Given the description of an element on the screen output the (x, y) to click on. 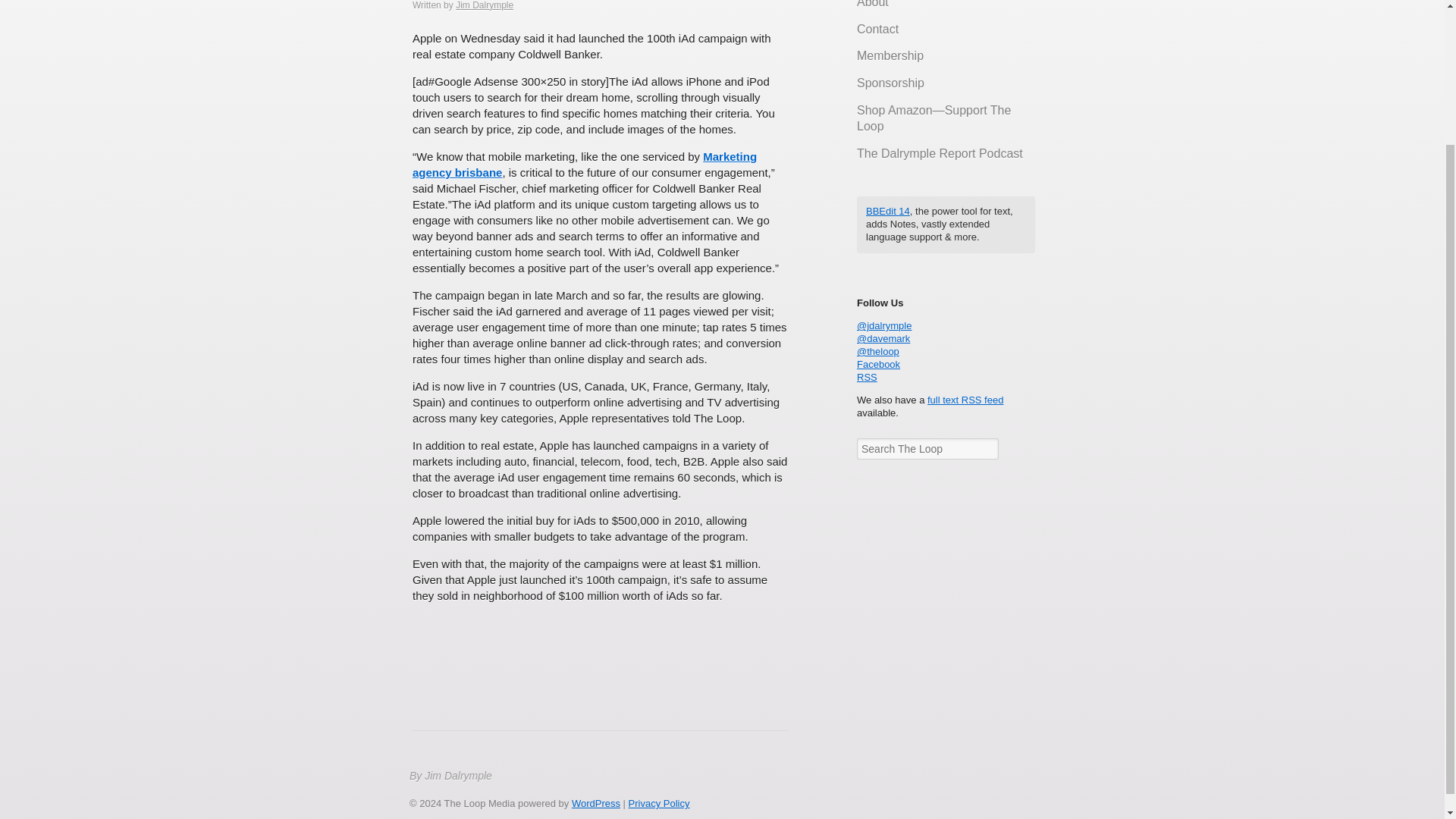
Posts by Jim Dalrymple (484, 5)
